Given the description of an element on the screen output the (x, y) to click on. 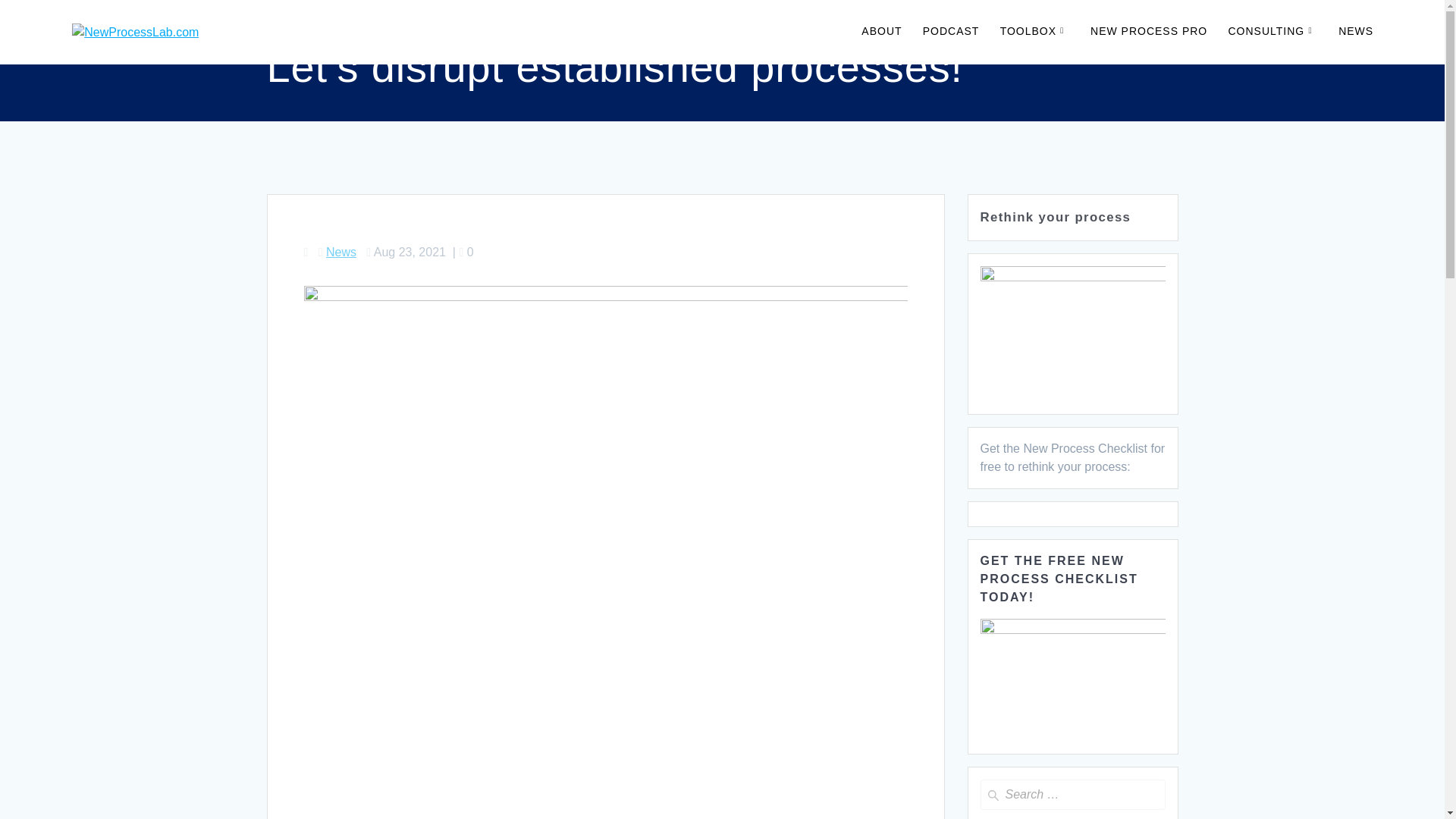
ABOUT (881, 31)
NEW PROCESS PRO (1148, 31)
TOOLBOX (1035, 31)
PODCAST (951, 31)
NEWS (1355, 31)
CONSULTING (1272, 31)
